Given the description of an element on the screen output the (x, y) to click on. 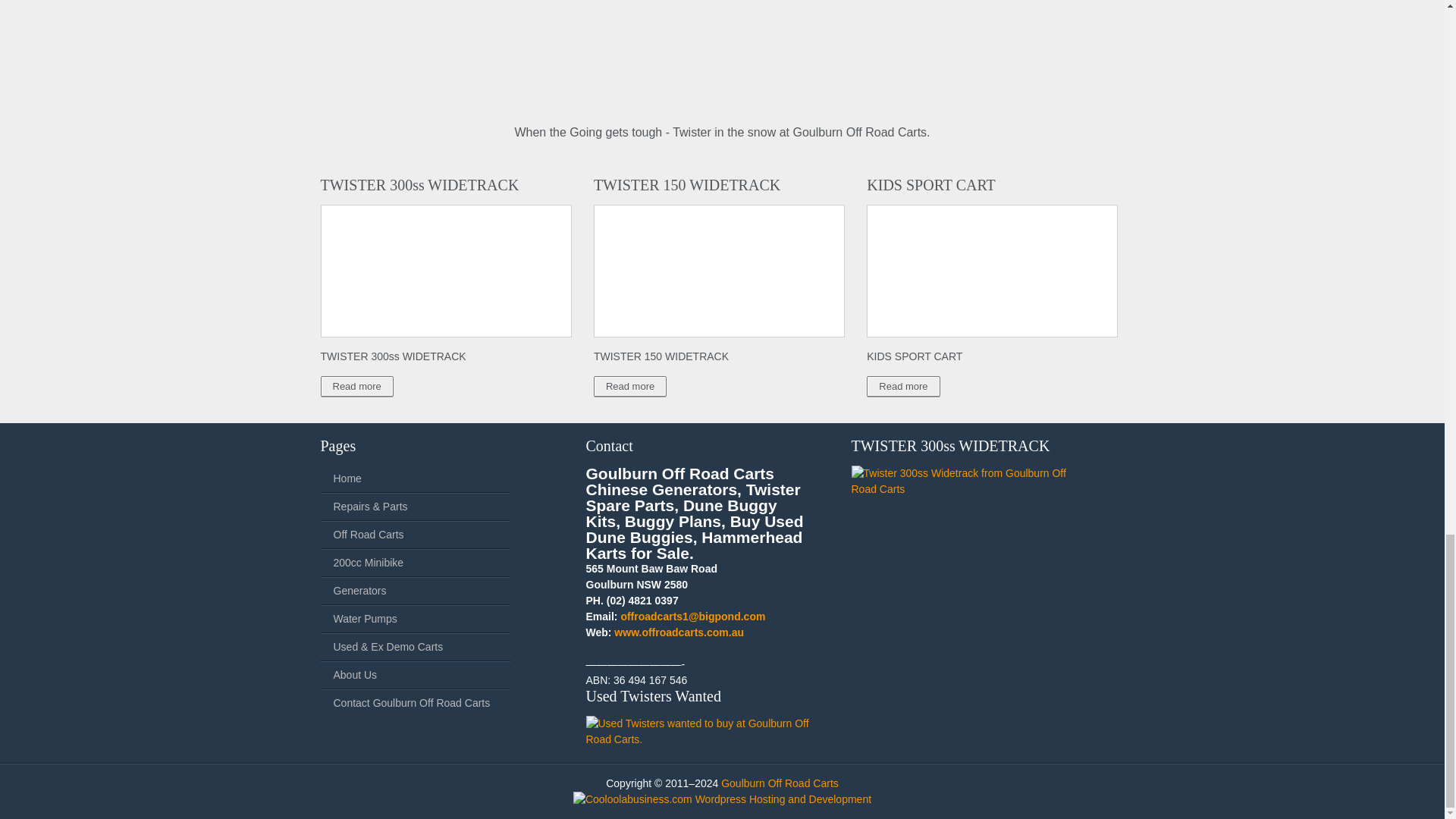
Generators (360, 590)
Read more (902, 385)
Read more (356, 385)
Read more (630, 385)
Home (347, 478)
200cc Minibike (368, 562)
Off Road Carts (368, 534)
Water Pumps (365, 618)
